Given the description of an element on the screen output the (x, y) to click on. 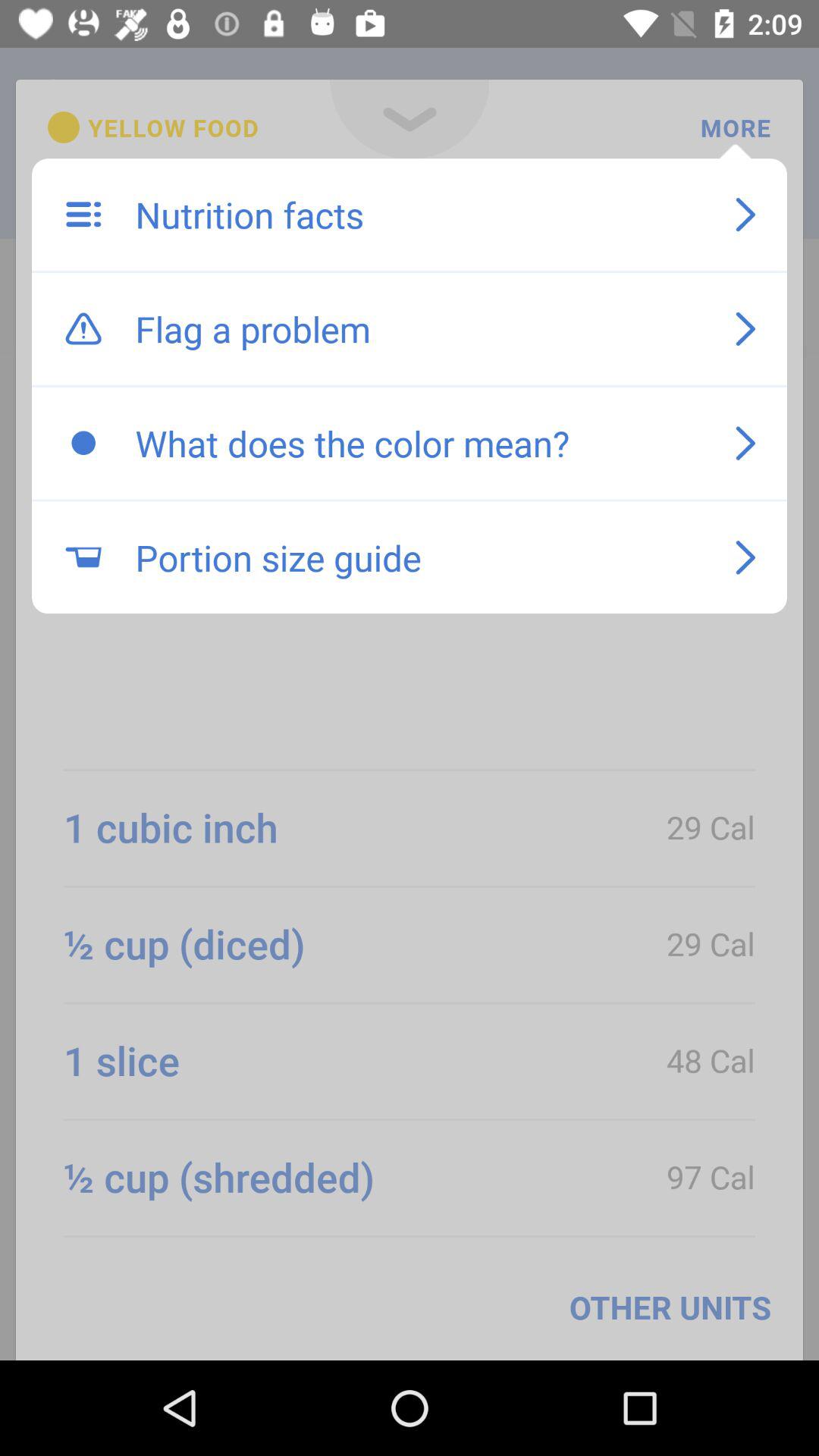
jump until the portion size guide (419, 557)
